Given the description of an element on the screen output the (x, y) to click on. 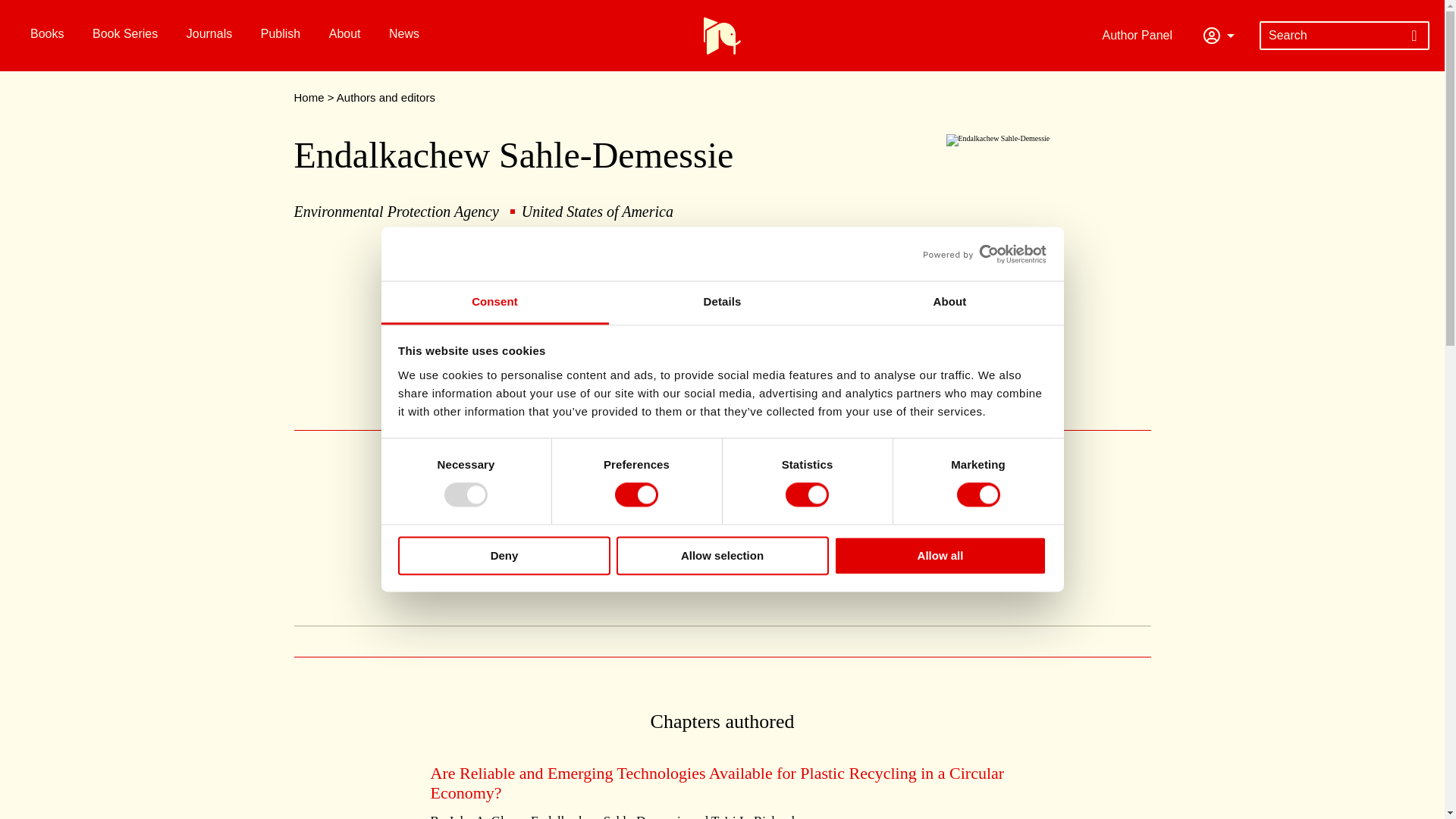
About (948, 302)
Consent (494, 302)
Details (721, 302)
